Given the description of an element on the screen output the (x, y) to click on. 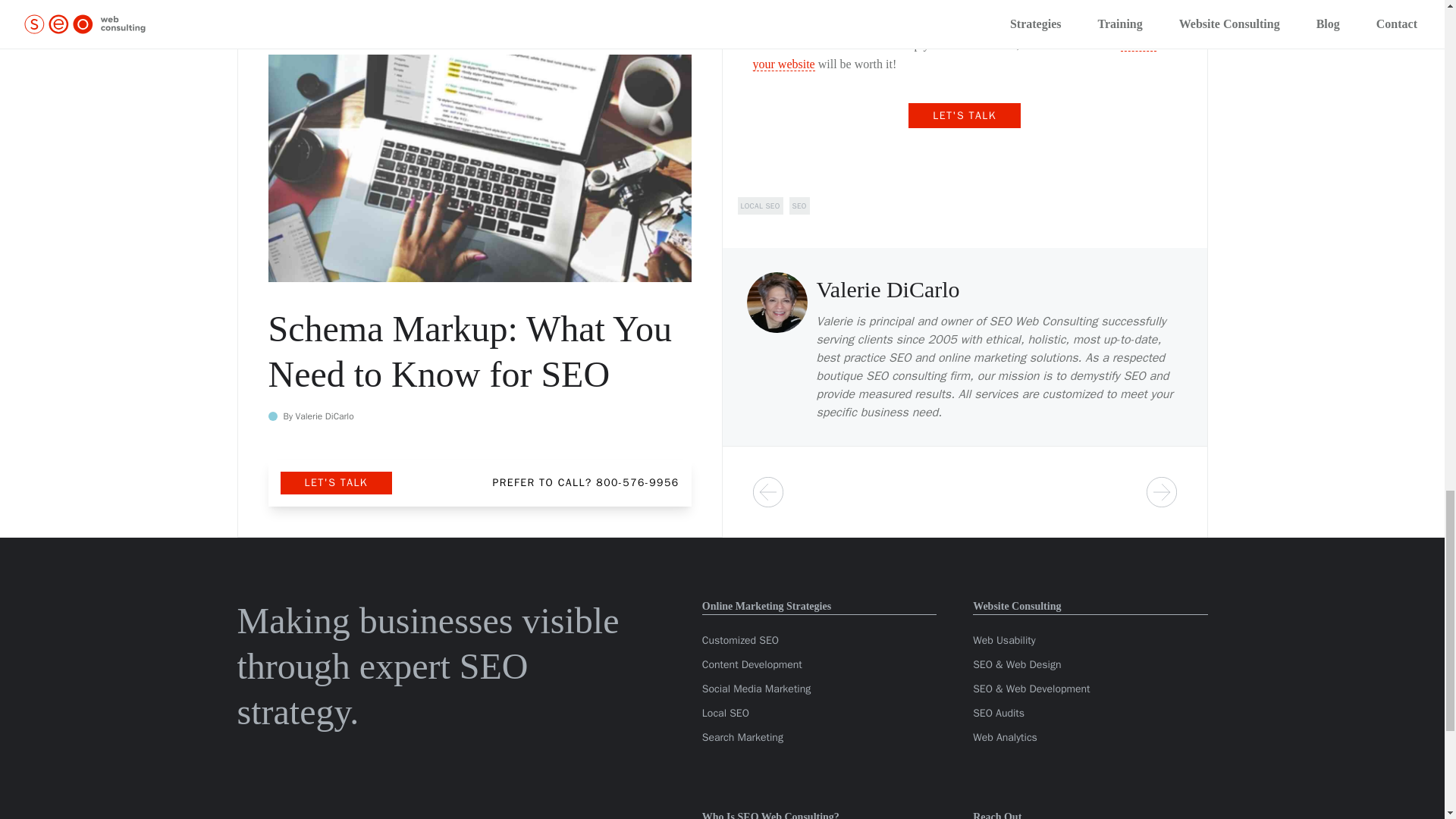
Social Media Marketing (755, 688)
Local SEO (725, 712)
LET'S TALK (964, 115)
Content Development (751, 664)
SEO (799, 205)
Web Usability (1003, 640)
SEO Web Consulting (1043, 321)
Search Marketing (742, 737)
SEO of your website (954, 54)
Customized SEO (739, 640)
LOCAL SEO (759, 205)
